Given the description of an element on the screen output the (x, y) to click on. 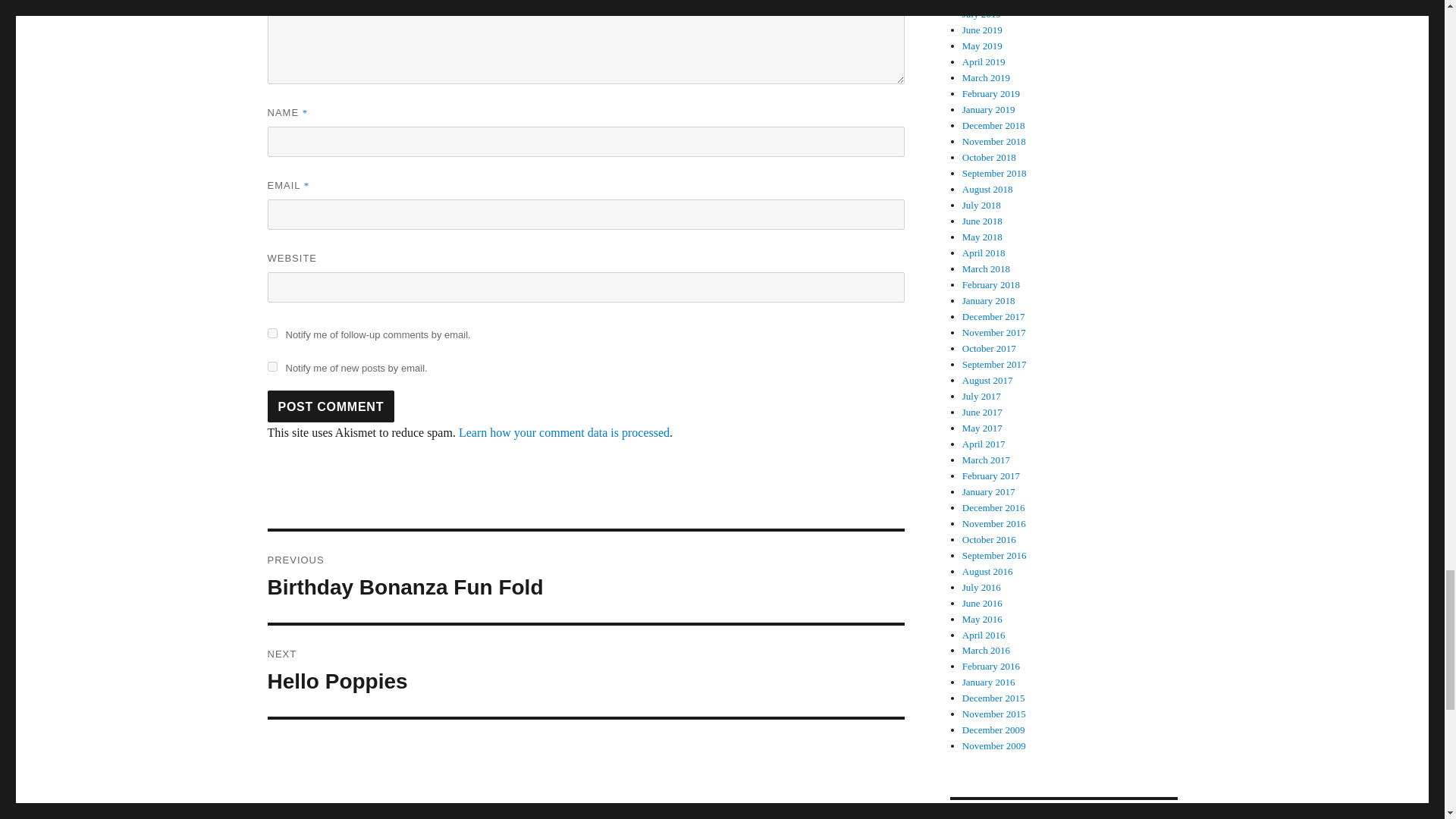
subscribe (271, 333)
subscribe (271, 366)
Post Comment (330, 406)
